Given the description of an element on the screen output the (x, y) to click on. 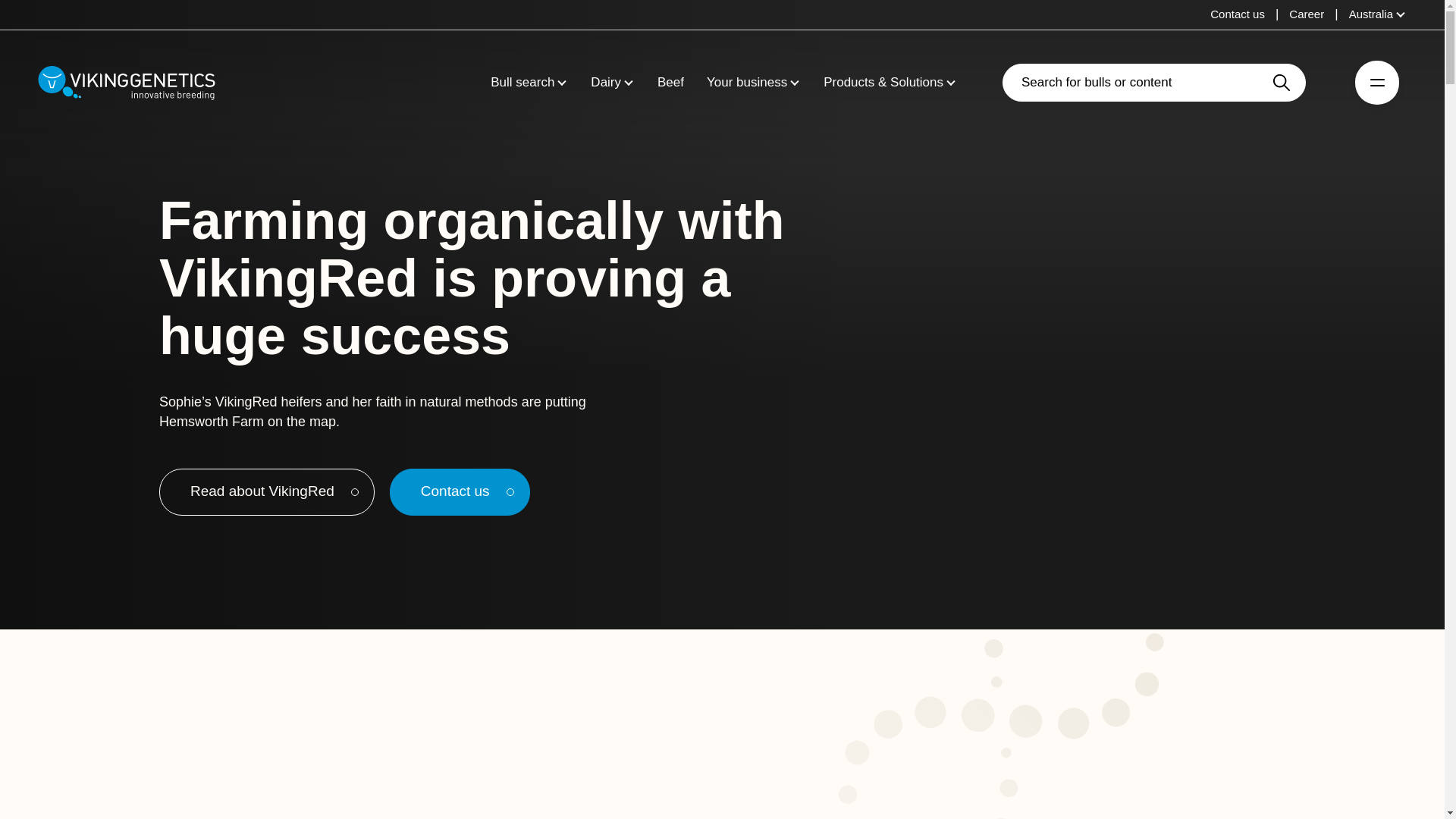
Beef (671, 83)
Contact us (1237, 13)
Career (1305, 13)
Read about VikingRed (266, 492)
Bull search (522, 83)
Dairy (606, 83)
Viking Genetics - innovative breeding (126, 82)
Your business (746, 83)
Australia (1377, 13)
